Given the description of an element on the screen output the (x, y) to click on. 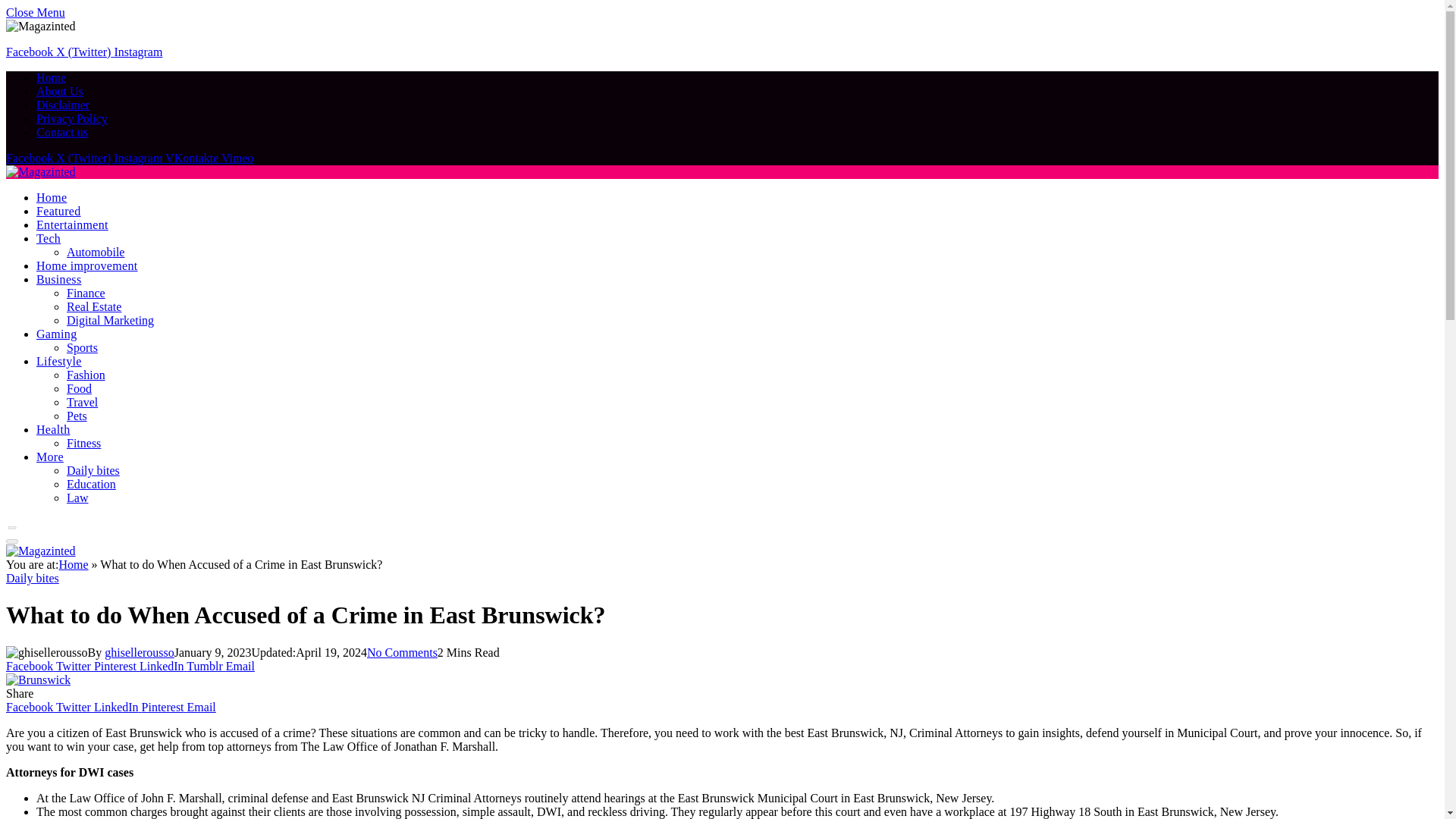
Share on Tumblr (205, 666)
Tech (48, 237)
Sports (81, 347)
Share on Facebook (30, 666)
Home improvement (87, 265)
Travel (81, 401)
Posts by ghisellerousso (139, 652)
Instagram (139, 157)
Magazinted (40, 171)
Pinterest (164, 707)
Privacy Policy (71, 118)
Magazinted (40, 550)
Digital Marketing (110, 319)
Home (50, 77)
VKontakte (193, 157)
